Given the description of an element on the screen output the (x, y) to click on. 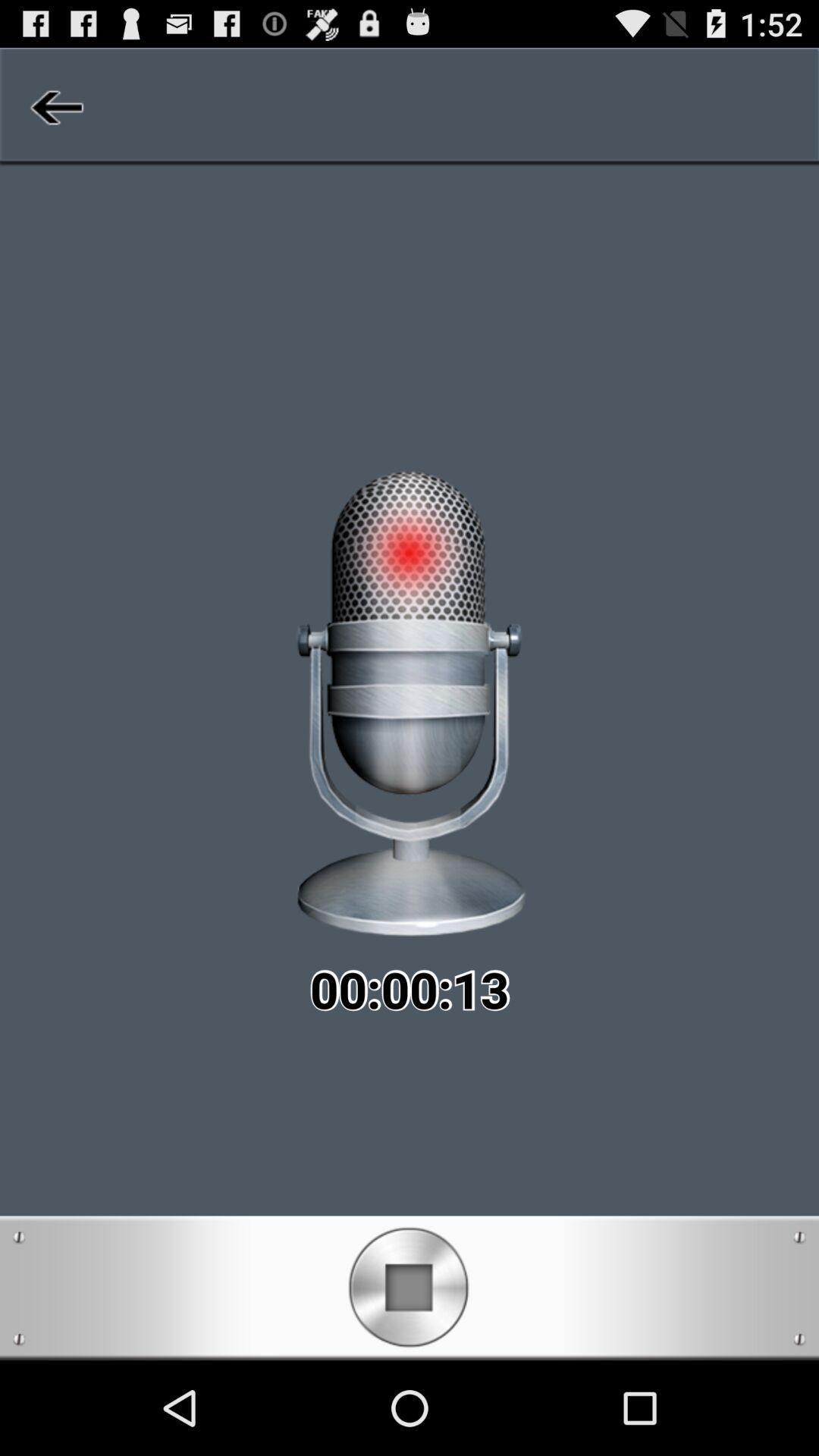
click icon above 00:00:13 item (54, 107)
